Given the description of an element on the screen output the (x, y) to click on. 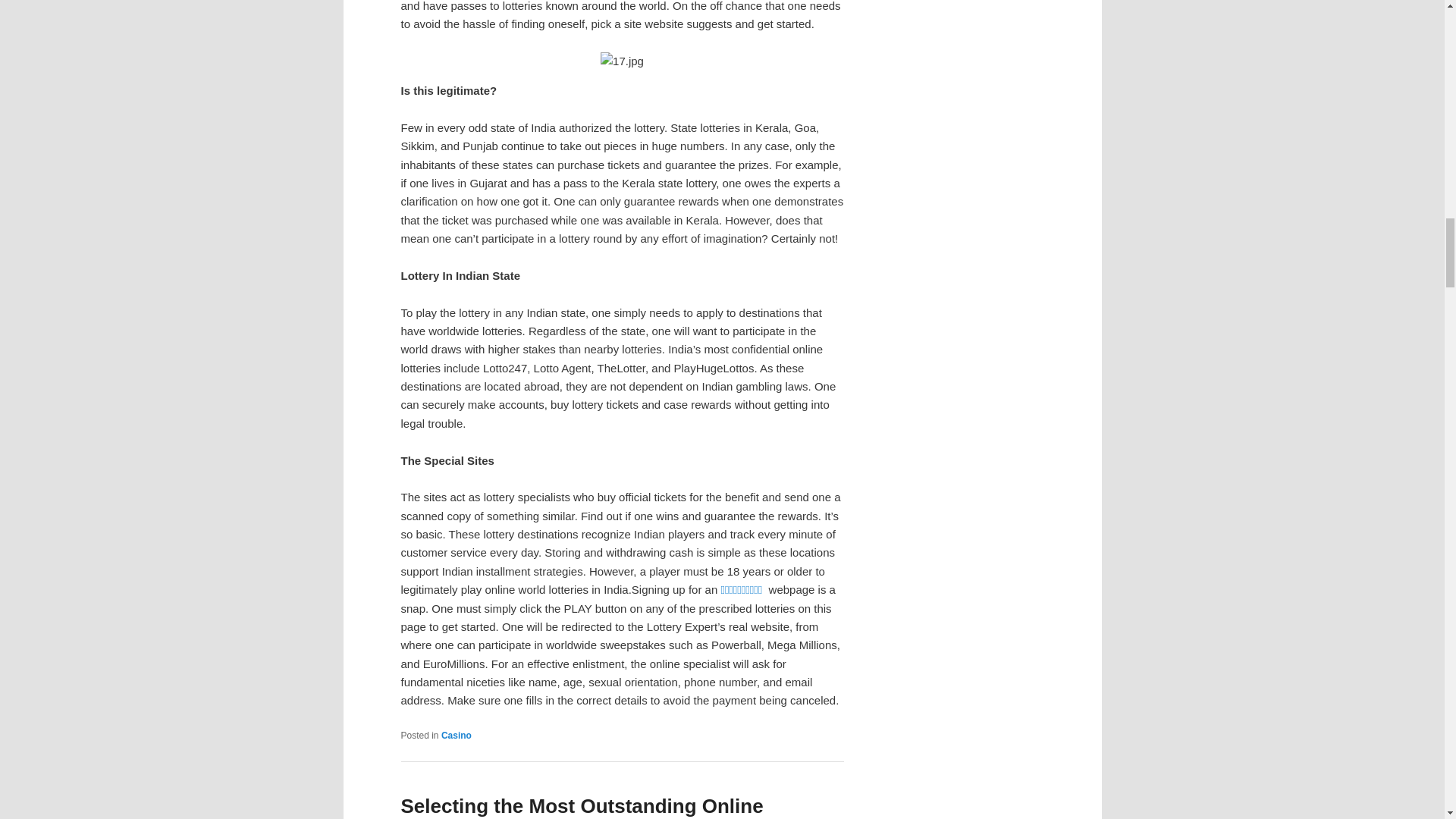
Casino (456, 735)
Selecting the Most Outstanding Online Slot Website (581, 806)
